Given the description of an element on the screen output the (x, y) to click on. 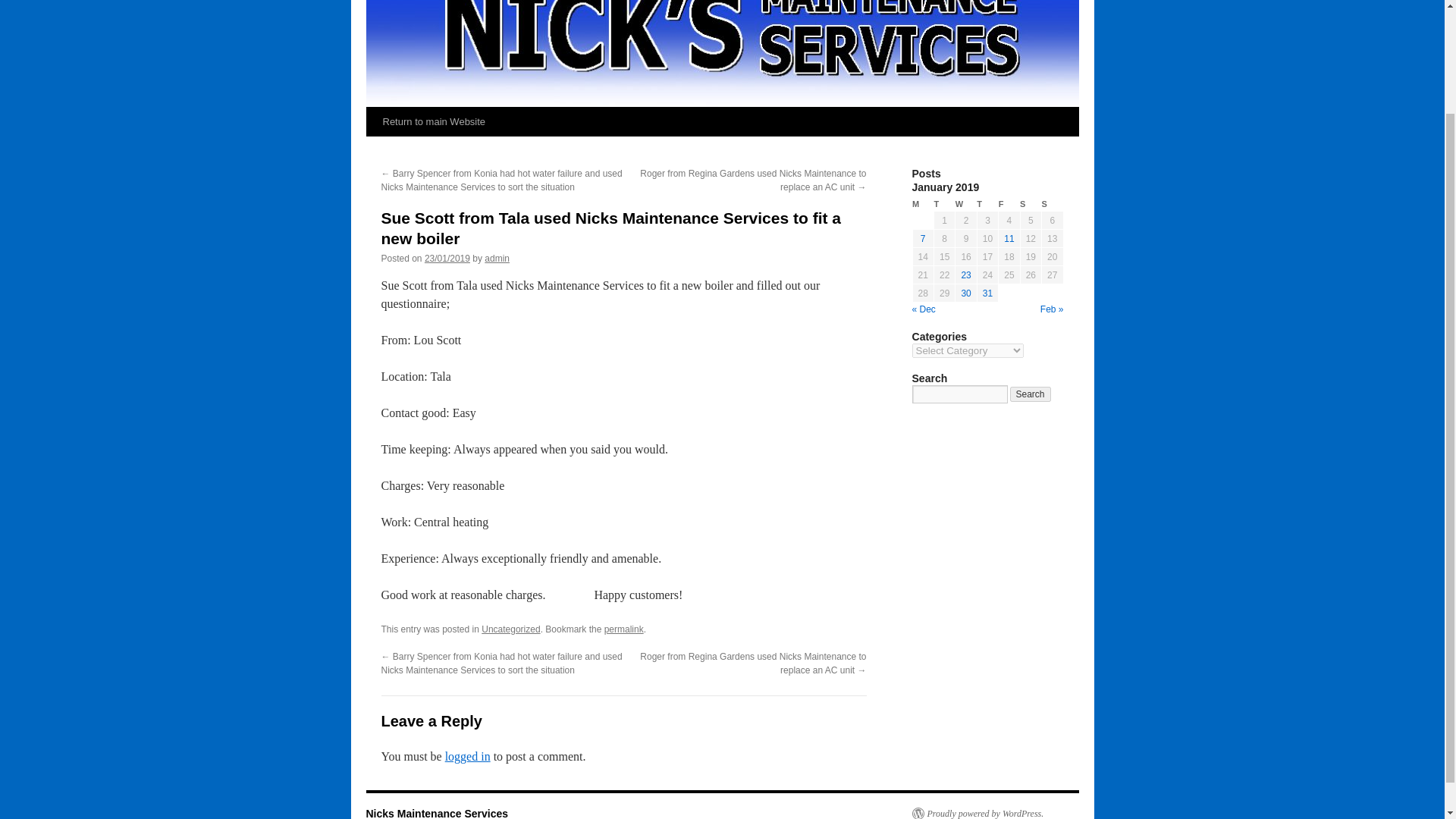
admin (496, 258)
Monday (922, 204)
logged in (467, 756)
Saturday (1030, 204)
permalink (623, 629)
11 (1008, 238)
Thursday (986, 204)
Search (1030, 394)
Sunday (1052, 204)
Return to main Website (433, 121)
